Given the description of an element on the screen output the (x, y) to click on. 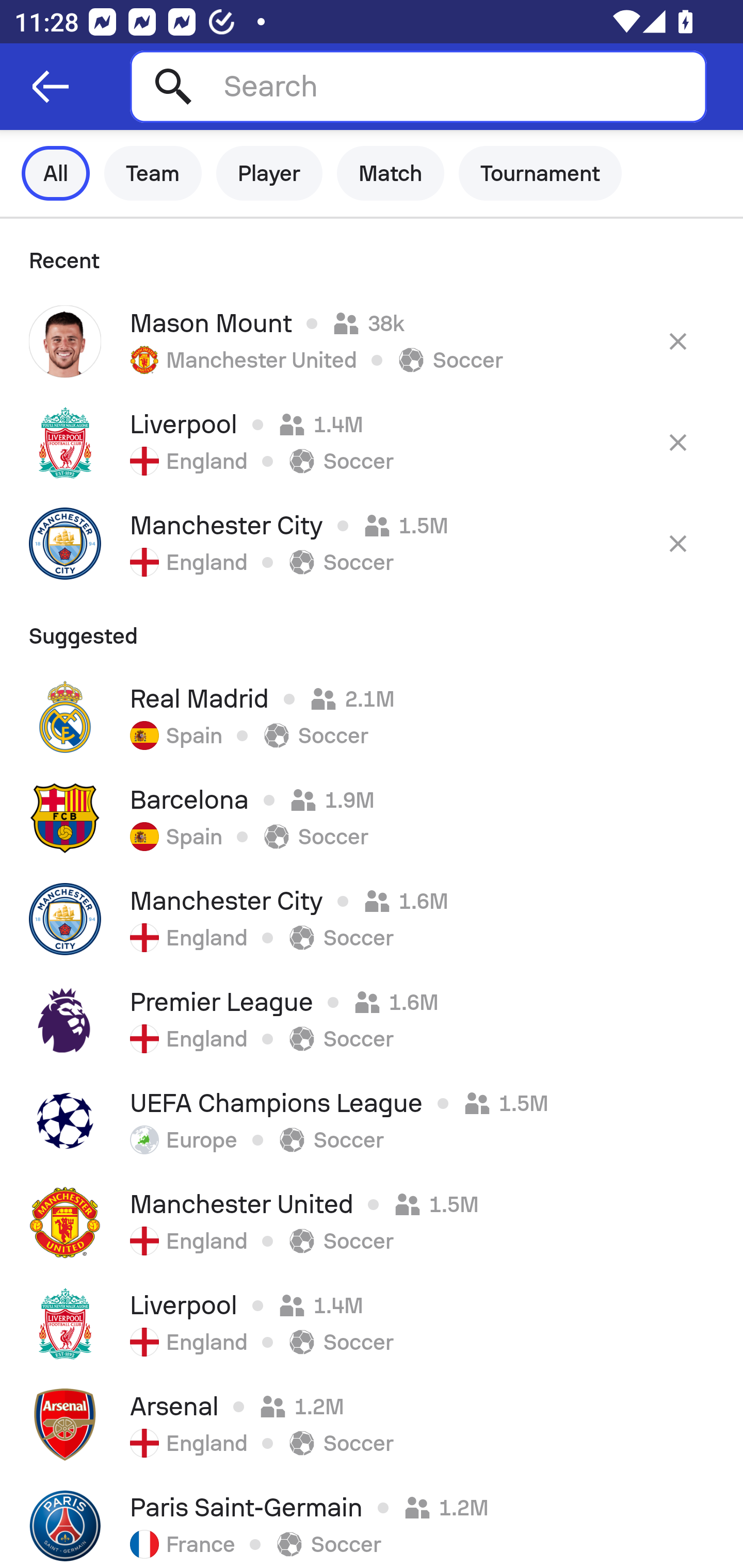
Navigate up (50, 86)
Search (418, 86)
All (55, 172)
Team (152, 172)
Player (268, 172)
Match (390, 172)
Tournament (540, 172)
Recent (371, 254)
Mason Mount 38k Manchester United Soccer (371, 341)
Liverpool 1.4M England Soccer (371, 442)
Manchester City 1.5M England Soccer (371, 543)
Suggested (371, 630)
Real Madrid 2.1M Spain Soccer (371, 716)
Barcelona 1.9M Spain Soccer (371, 817)
Manchester City 1.6M England Soccer (371, 918)
Premier League 1.6M England Soccer (371, 1019)
UEFA Champions League 1.5M Europe Soccer (371, 1120)
Manchester United 1.5M England Soccer (371, 1222)
Liverpool 1.4M England Soccer (371, 1323)
Arsenal 1.2M England Soccer (371, 1424)
Paris Saint-Germain 1.2M France Soccer (371, 1521)
